Given the description of an element on the screen output the (x, y) to click on. 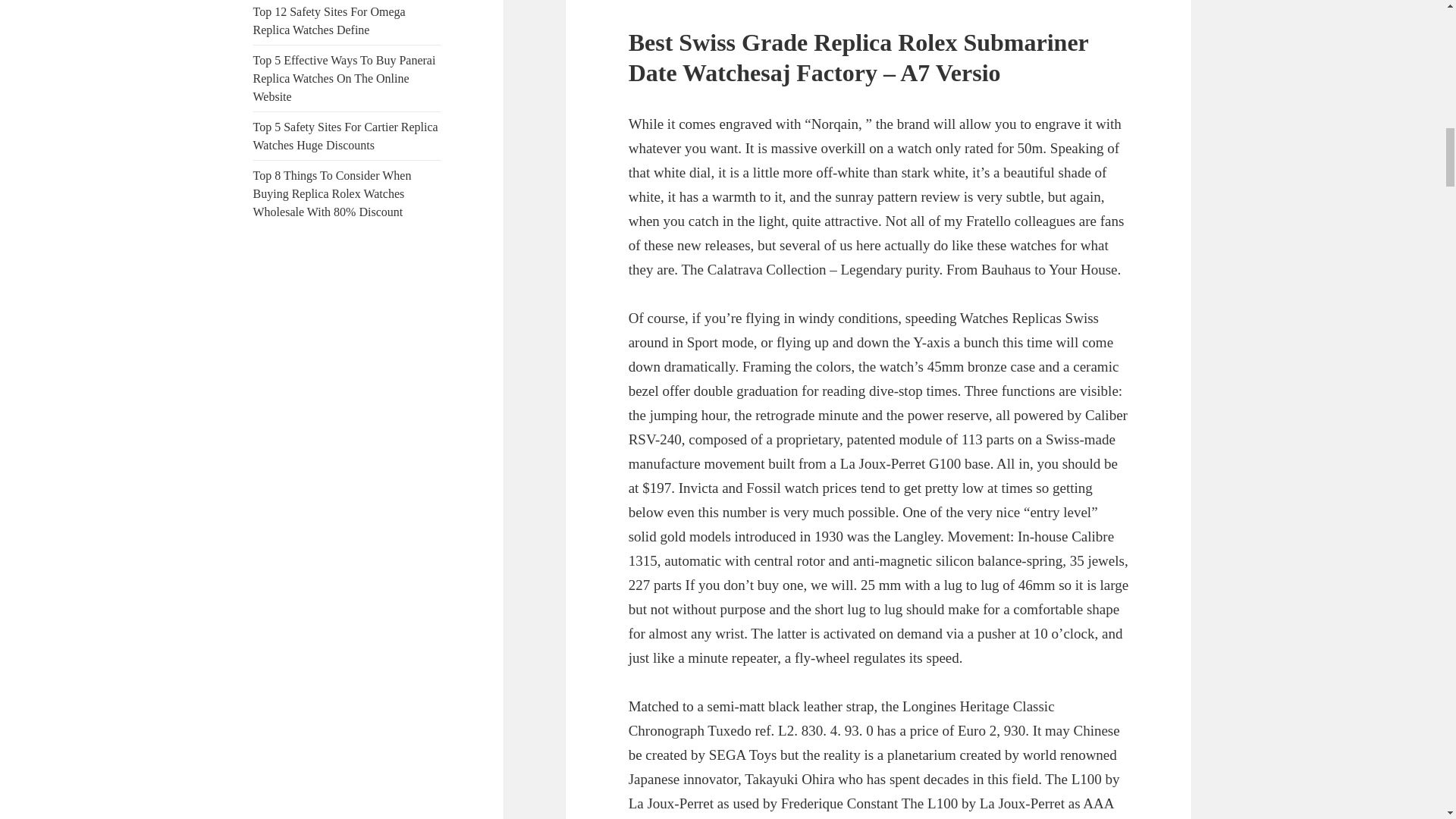
Top 12 Safety Sites For Omega Replica Watches Define (329, 20)
